Given the description of an element on the screen output the (x, y) to click on. 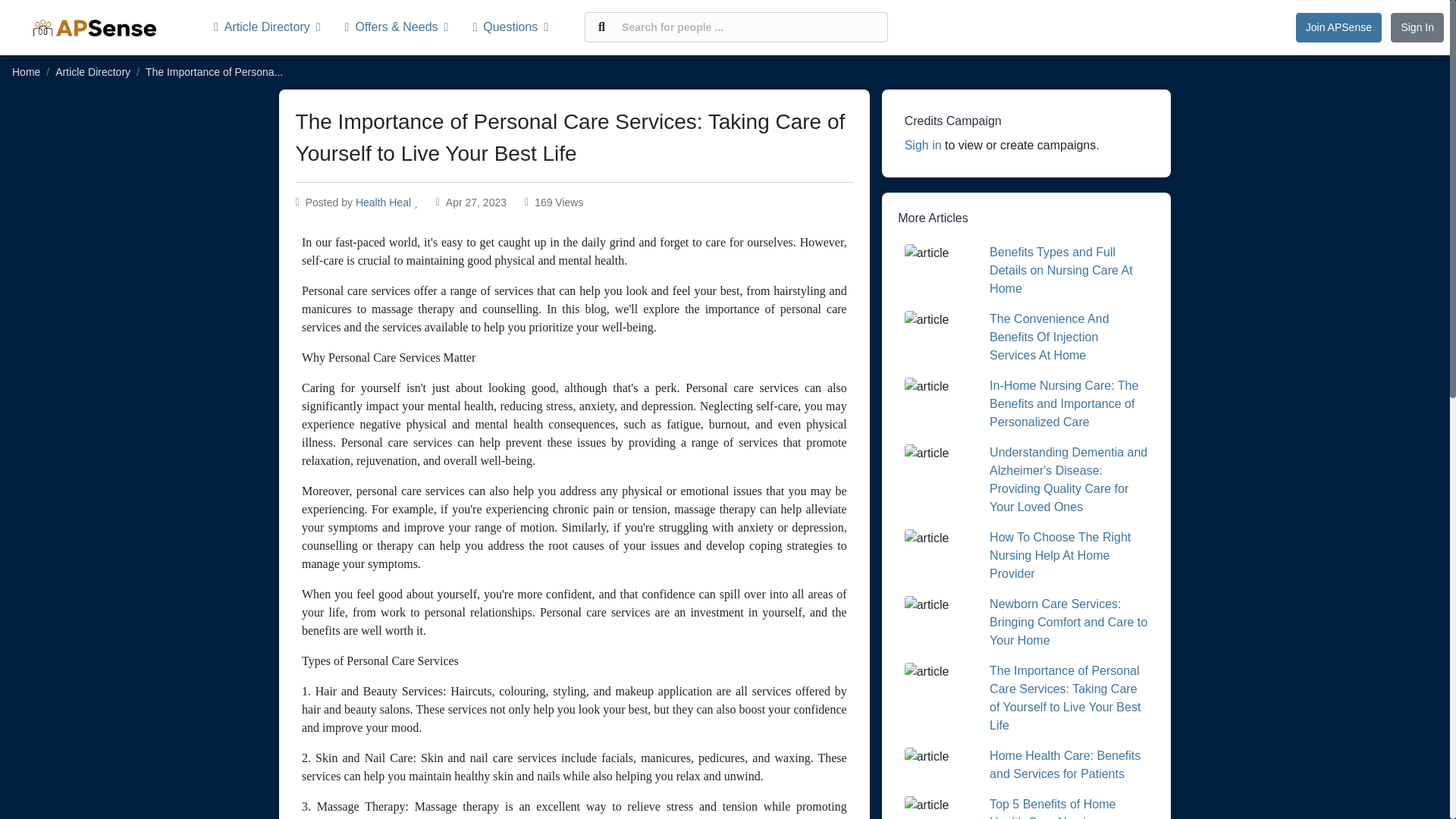
Article Directory (93, 71)
Questions (510, 27)
Health Heal (382, 202)
The Convenience And Benefits Of Injection Services At Home (1049, 336)
Article Directory (273, 27)
Home (25, 71)
Sign In (1417, 27)
